Given the description of an element on the screen output the (x, y) to click on. 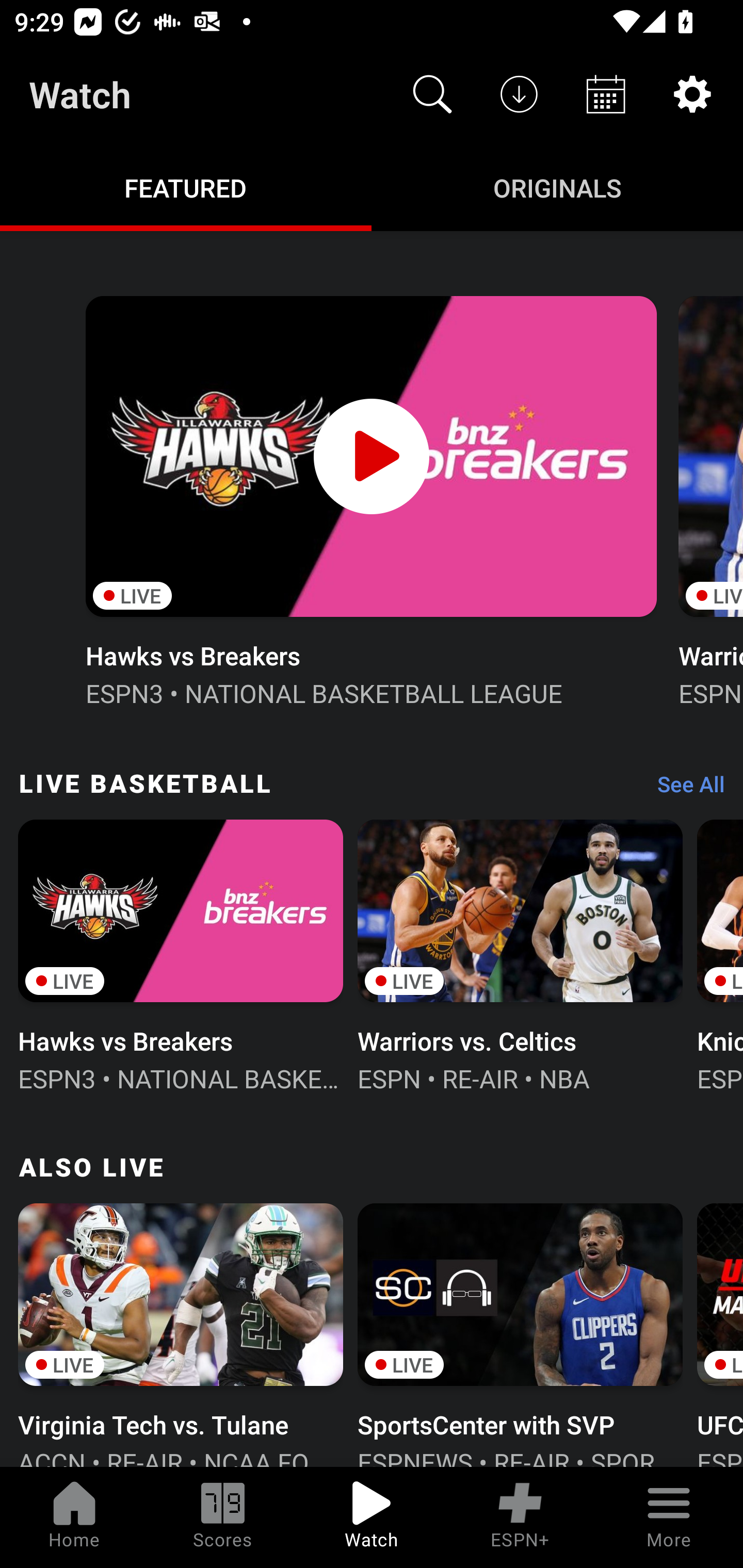
Search (432, 93)
Downloads (518, 93)
Schedule (605, 93)
Settings (692, 93)
Originals ORIGINALS (557, 187)
See All (683, 788)
LIVE Warriors vs. Celtics ESPN • RE-AIR • NBA (519, 954)
Home (74, 1517)
Scores (222, 1517)
ESPN+ (519, 1517)
More (668, 1517)
